Given the description of an element on the screen output the (x, y) to click on. 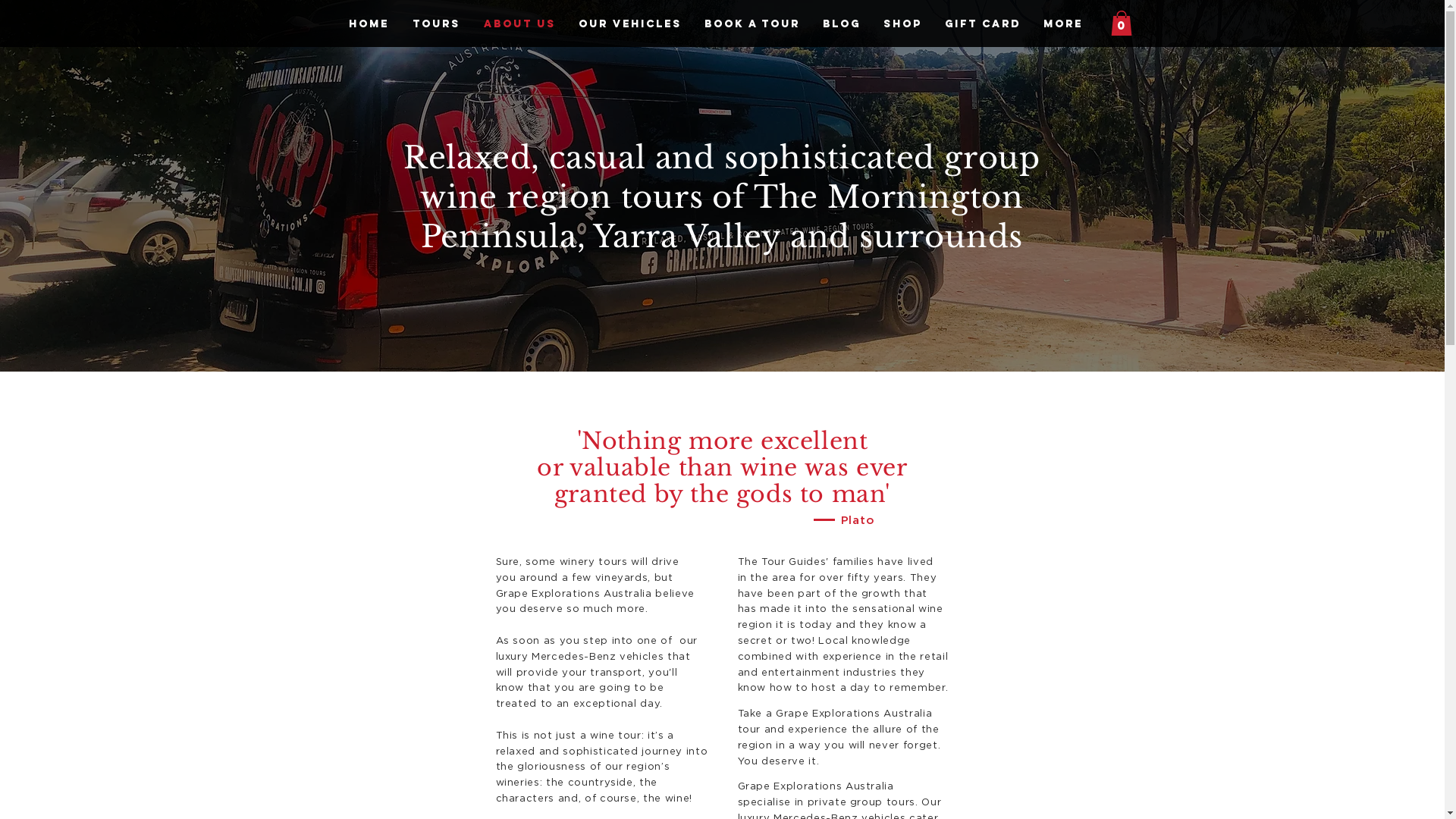
HOME Element type: text (368, 24)
OUR VEHICLES Element type: text (630, 24)
TOURS Element type: text (435, 24)
Gift Card Element type: text (981, 24)
BOOK A TOUR Element type: text (752, 24)
0 Element type: text (1120, 22)
BLOG Element type: text (841, 24)
ABOUT US Element type: text (518, 24)
Shop Element type: text (902, 24)
